Given the description of an element on the screen output the (x, y) to click on. 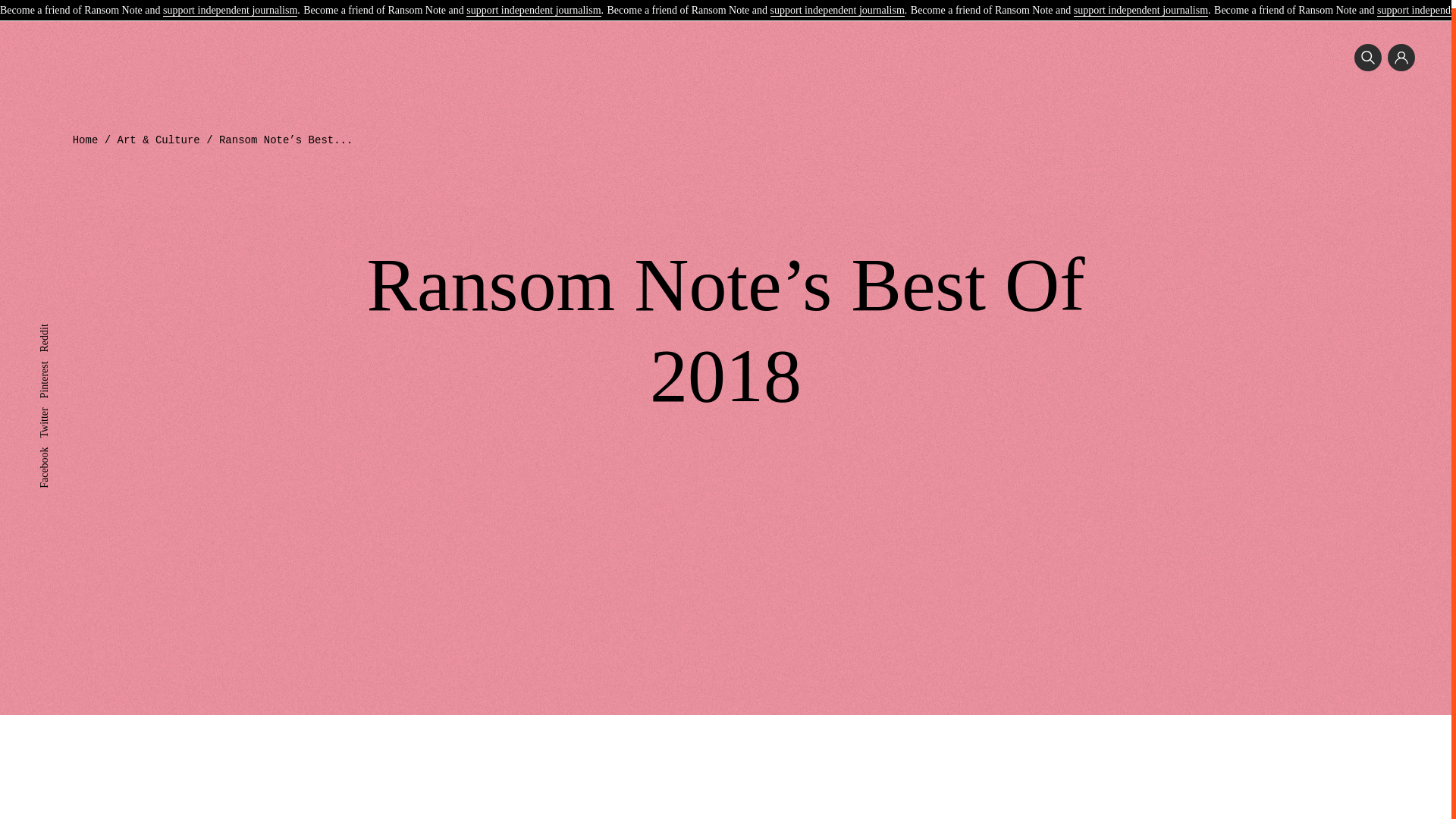
support independent journalism (230, 4)
support independent journalism (532, 4)
support independent journalism (837, 4)
Facebook (59, 444)
Reddit (52, 321)
Twitter (53, 404)
Home (85, 140)
support independent journalism (1141, 4)
Pinterest (57, 358)
